Given the description of an element on the screen output the (x, y) to click on. 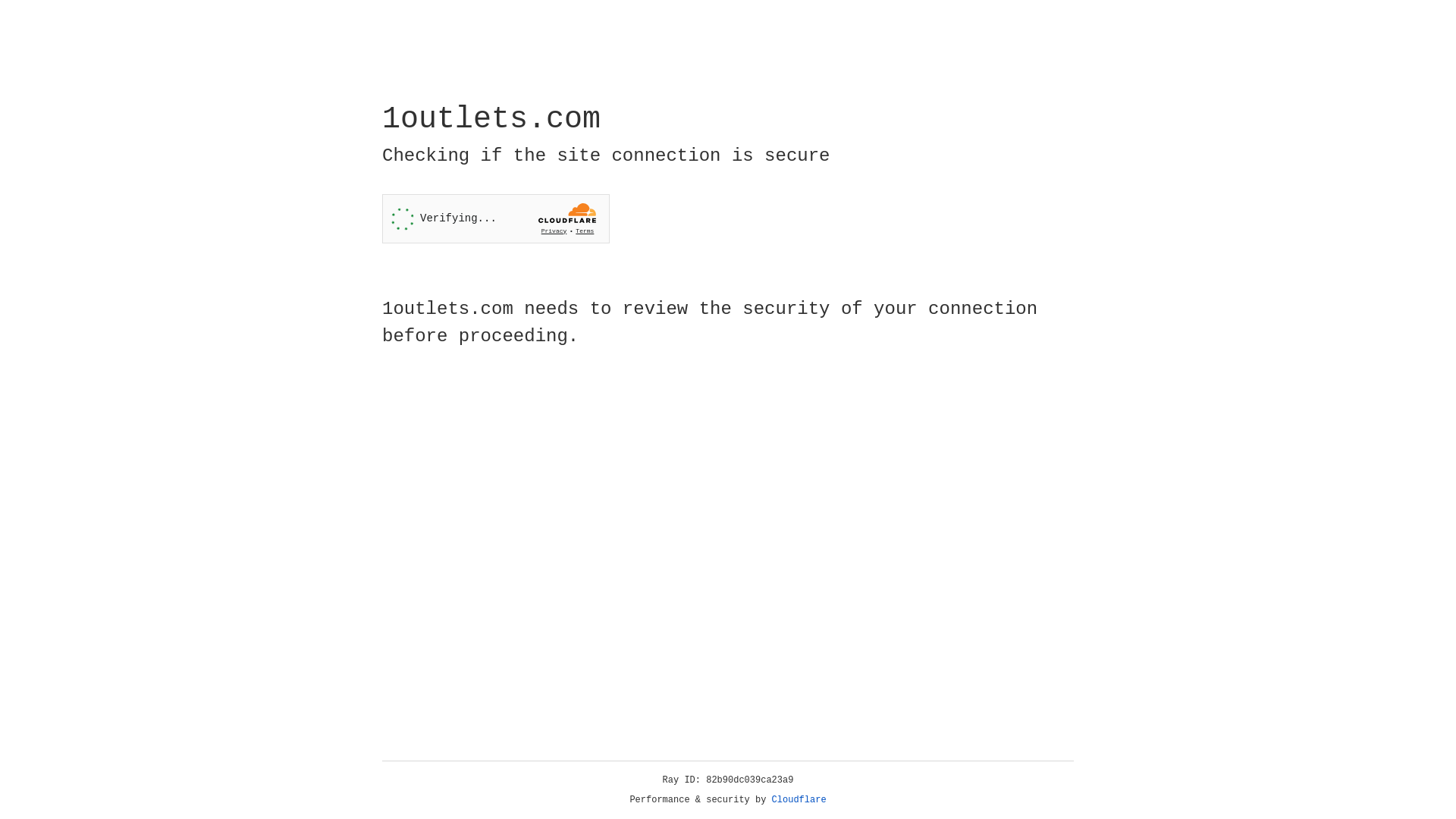
Widget containing a Cloudflare security challenge Element type: hover (495, 218)
Cloudflare Element type: text (798, 799)
